Given the description of an element on the screen output the (x, y) to click on. 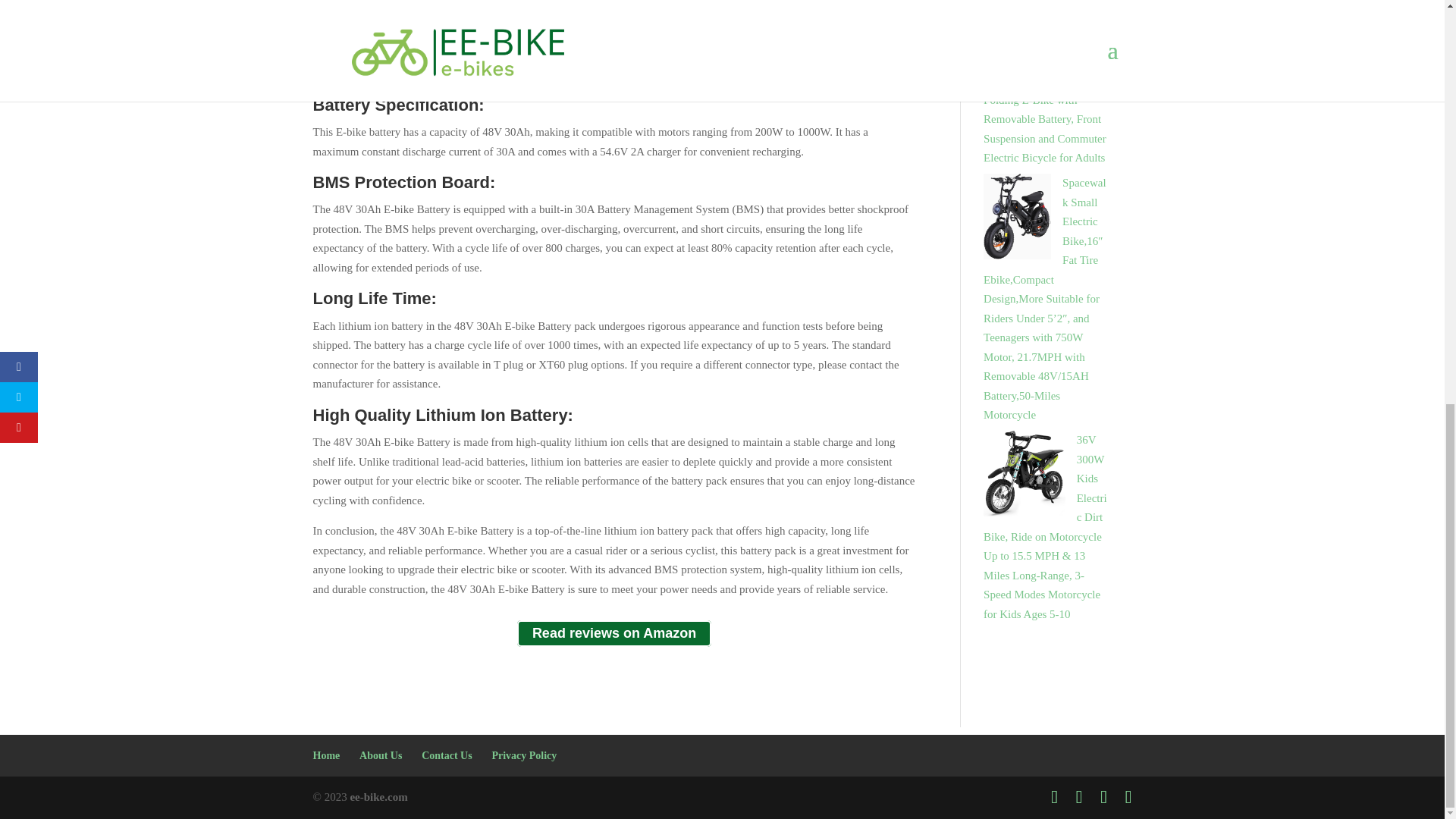
Contact Us (446, 755)
Home (326, 755)
ee-bike.com (378, 797)
Privacy Policy (524, 755)
About Us (380, 755)
Read reviews on Amazon (613, 633)
